Given the description of an element on the screen output the (x, y) to click on. 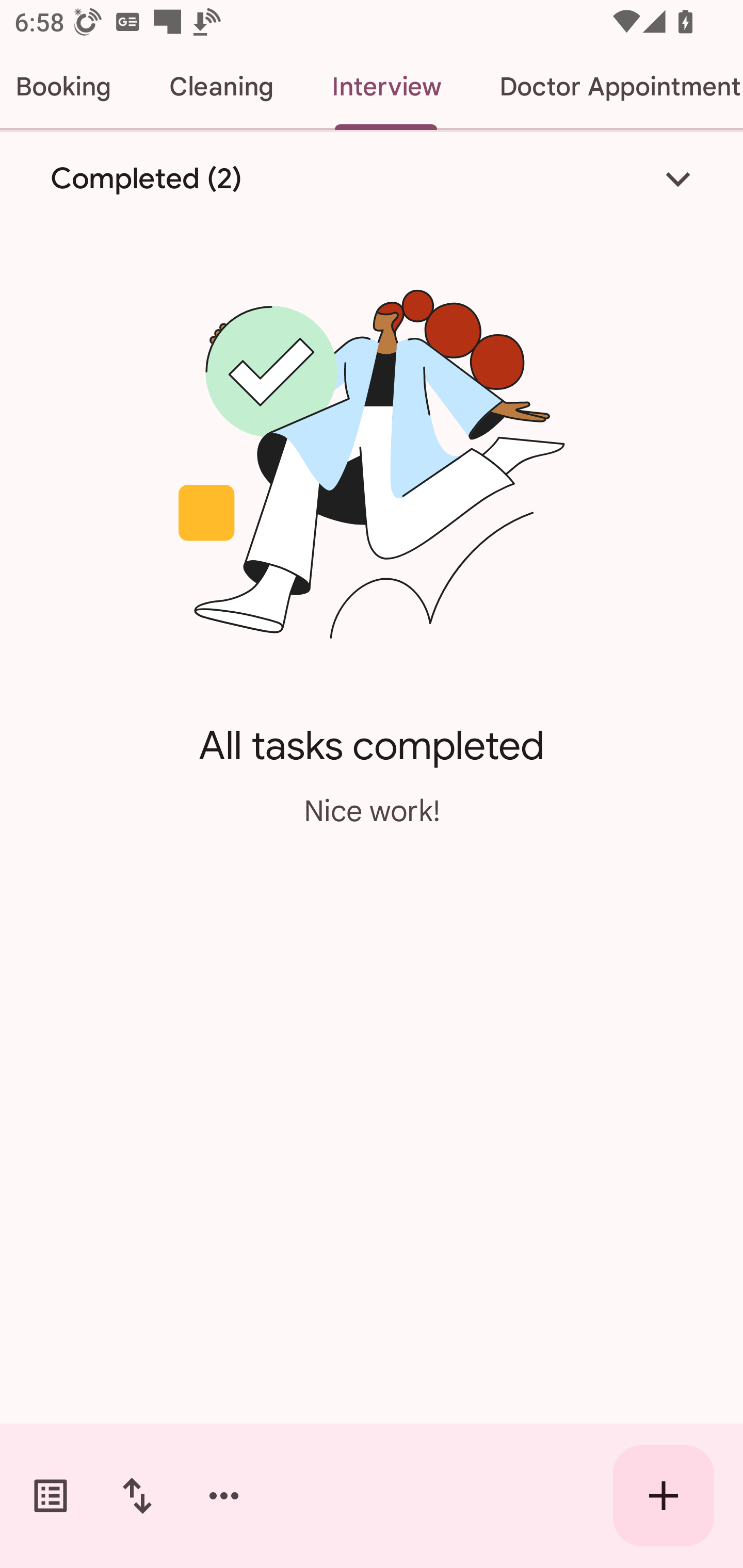
Hotel Booking (69, 86)
Cleaning (220, 86)
Doctor Appointment (606, 86)
Completed (2) (371, 178)
Switch task lists (50, 1495)
Create new task (663, 1495)
Change sort order (136, 1495)
More options (223, 1495)
